Given the description of an element on the screen output the (x, y) to click on. 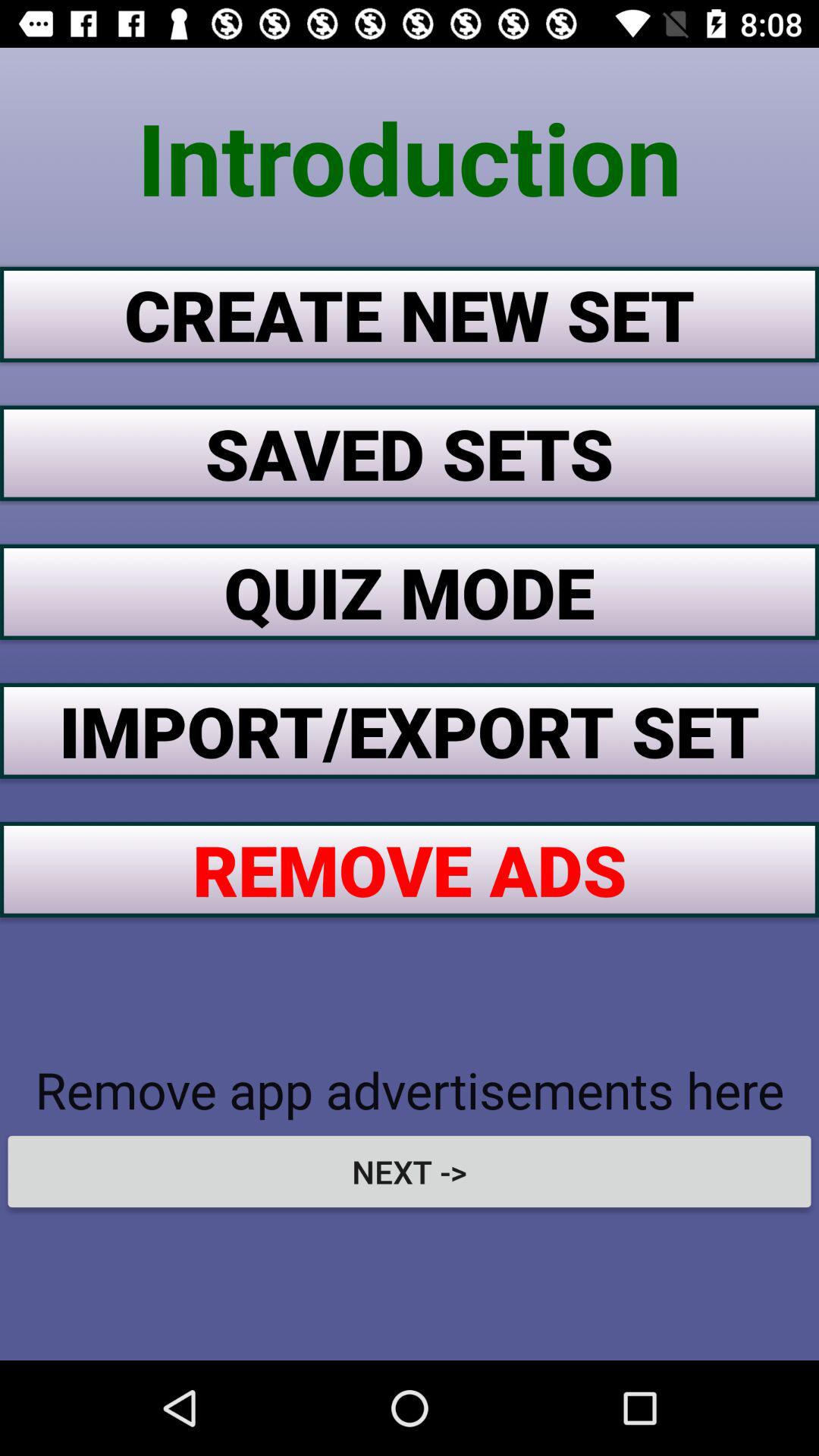
turn on the icon below remove app advertisements item (409, 1171)
